Given the description of an element on the screen output the (x, y) to click on. 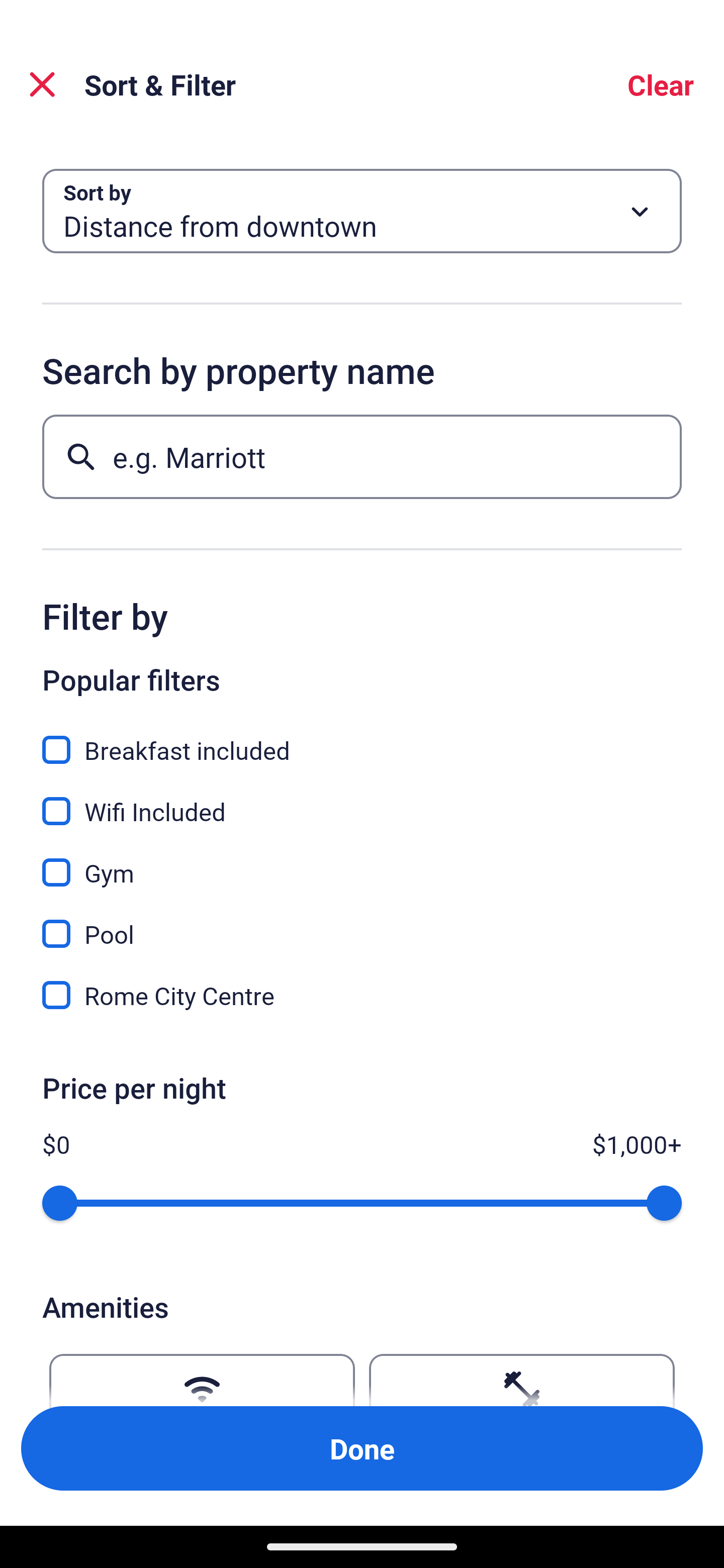
Close Sort and Filter (42, 84)
Clear (660, 84)
Sort by Button Distance from downtown (361, 211)
e.g. Marriott Button (361, 455)
Breakfast included, Breakfast included (361, 738)
Wifi Included, Wifi Included (361, 800)
Gym, Gym (361, 861)
Pool, Pool (361, 922)
Rome City Centre, Rome City Centre (361, 995)
Apply and close Sort and Filter Done (361, 1448)
